Given the description of an element on the screen output the (x, y) to click on. 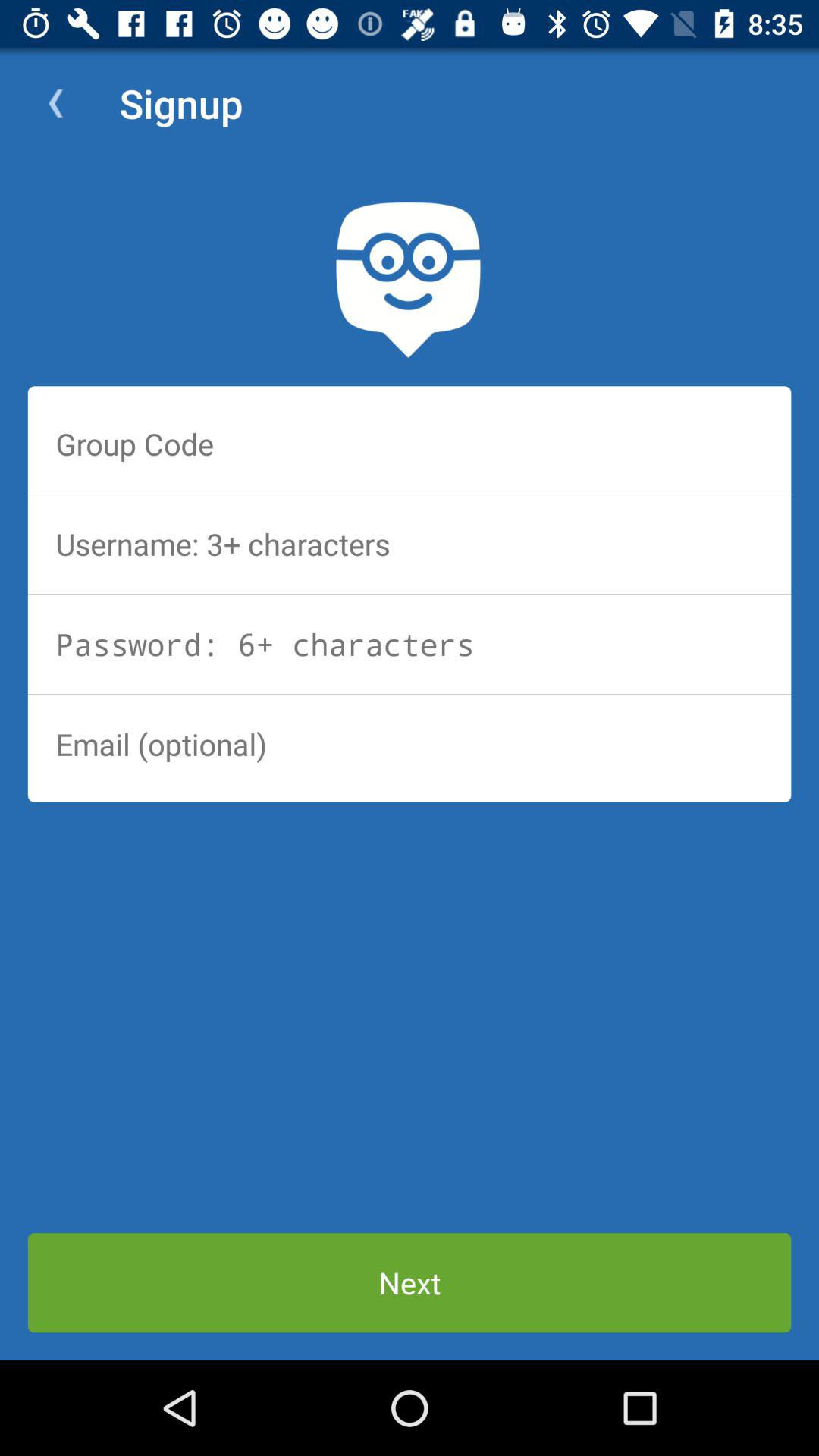
enter email (409, 743)
